Given the description of an element on the screen output the (x, y) to click on. 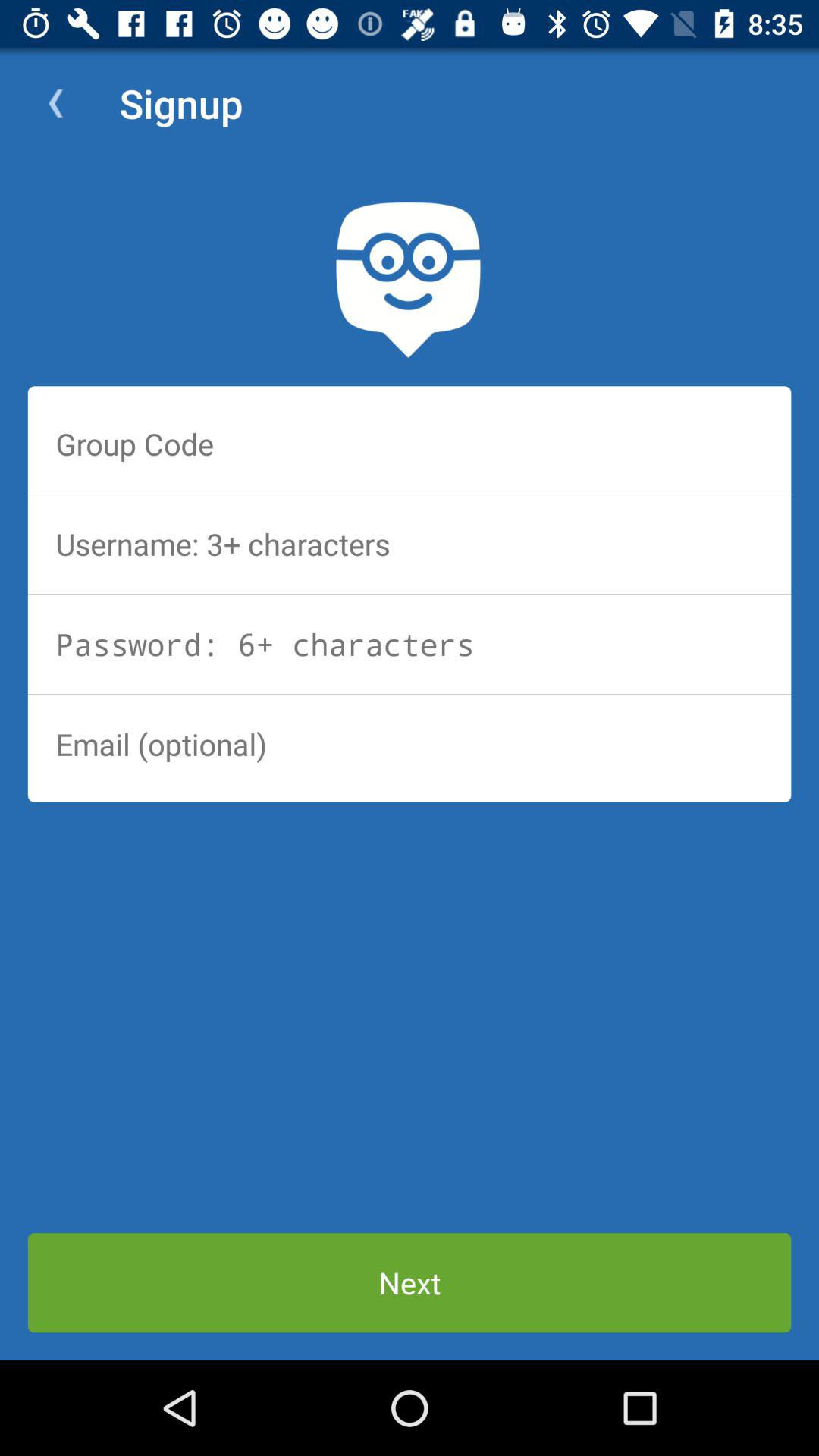
enter email (409, 743)
